Given the description of an element on the screen output the (x, y) to click on. 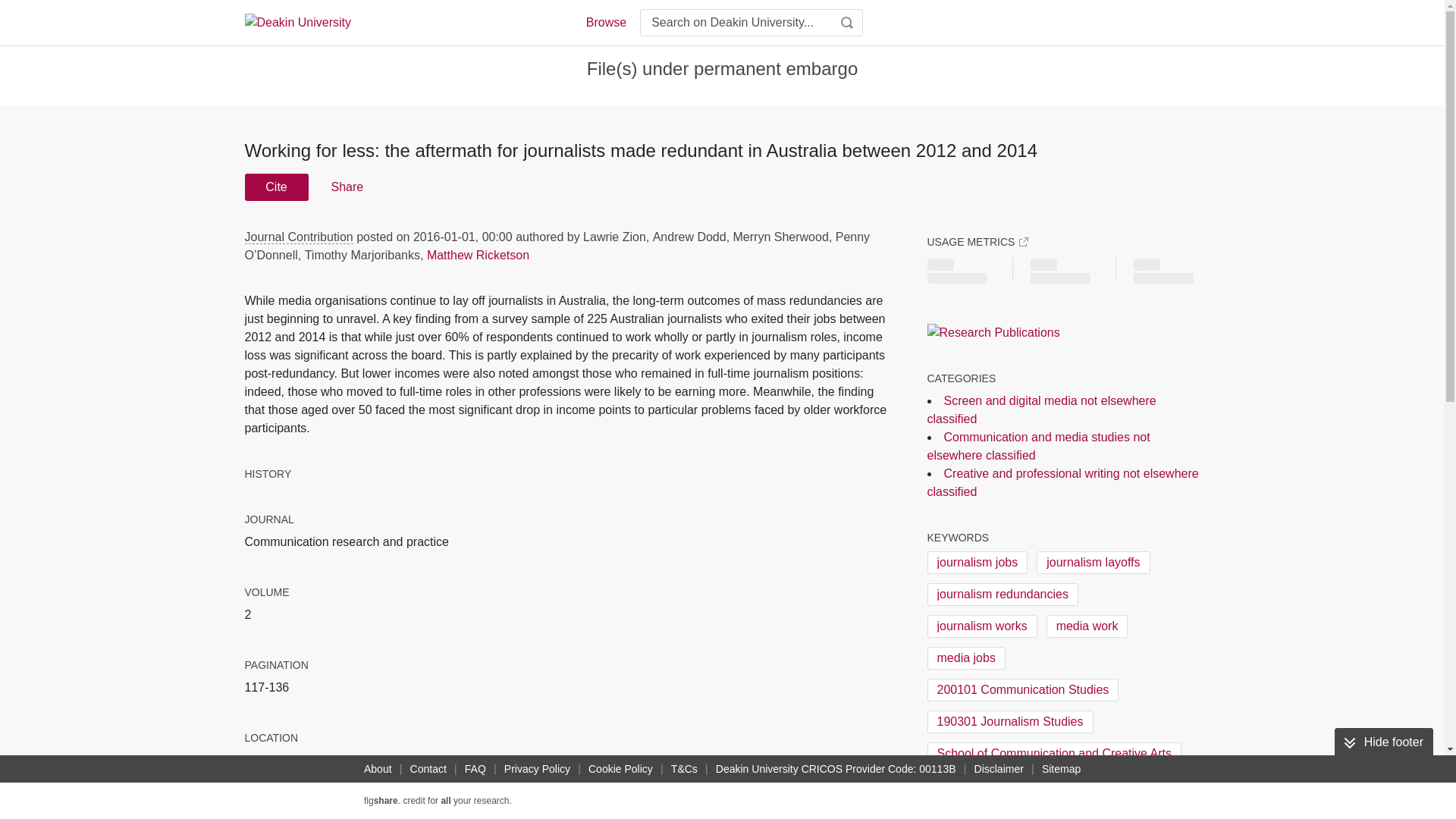
media work (1087, 626)
190301 Journalism Studies (1009, 721)
journalism works (981, 626)
950204 The Media (986, 784)
Creative and professional writing not elsewhere classified (1062, 481)
School of Communication and Creative Arts (1053, 753)
journalism layoffs (1093, 562)
200101 Communication Studies (1022, 689)
Cite (275, 186)
Privacy Policy (537, 769)
